Given the description of an element on the screen output the (x, y) to click on. 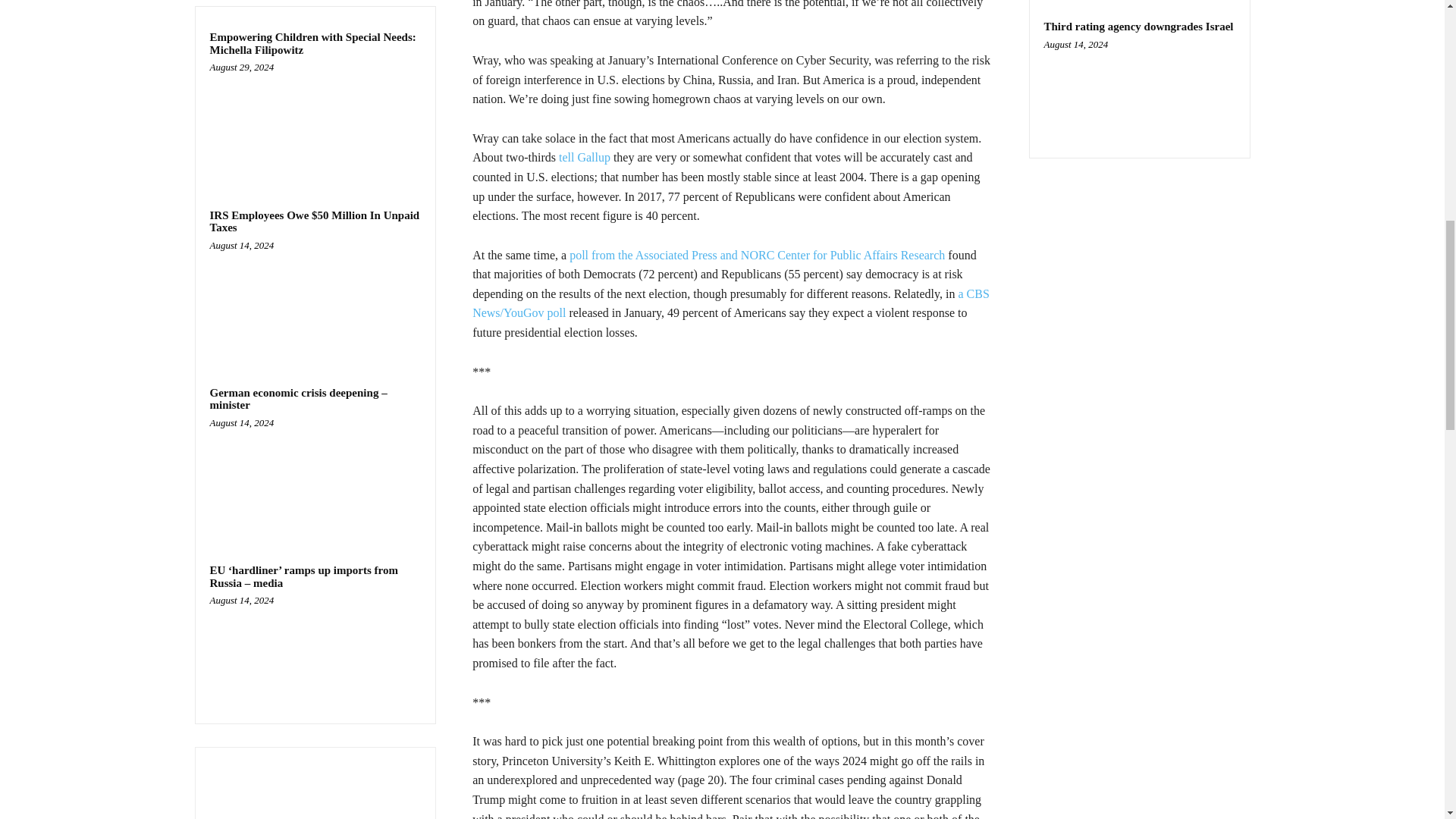
Empowering Children with Special Needs: Michella Filipowitz (311, 43)
Empowering Children with Special Needs: Michella Filipowitz (311, 43)
Empowering Children with Special Needs: Michella Filipowitz (314, 123)
